Given the description of an element on the screen output the (x, y) to click on. 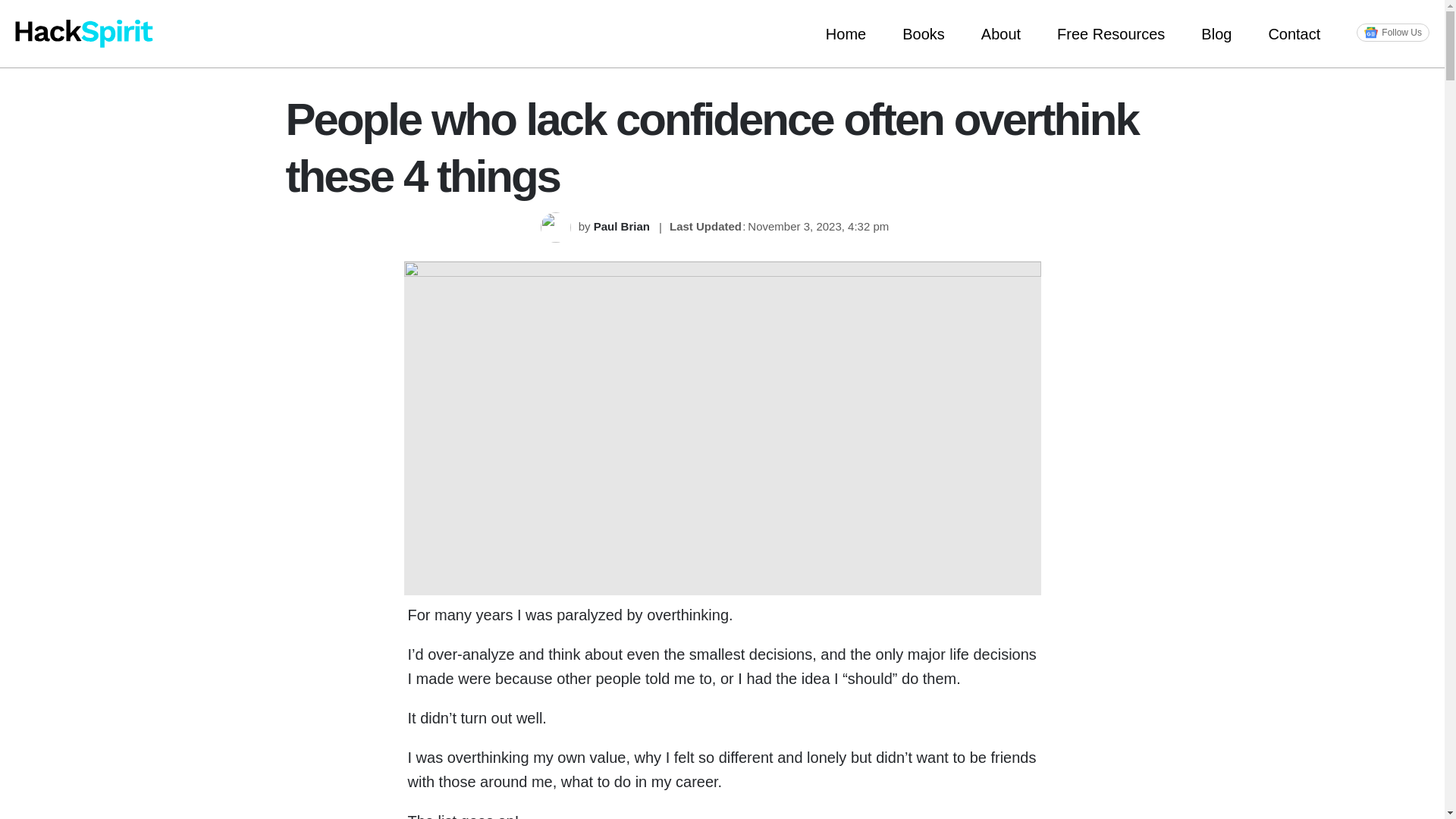
Books (922, 33)
Home (845, 33)
About (1000, 33)
Contact (1293, 33)
Posts by Paul Brian (623, 226)
Blog (1215, 33)
Free Resources (1110, 33)
